Given the description of an element on the screen output the (x, y) to click on. 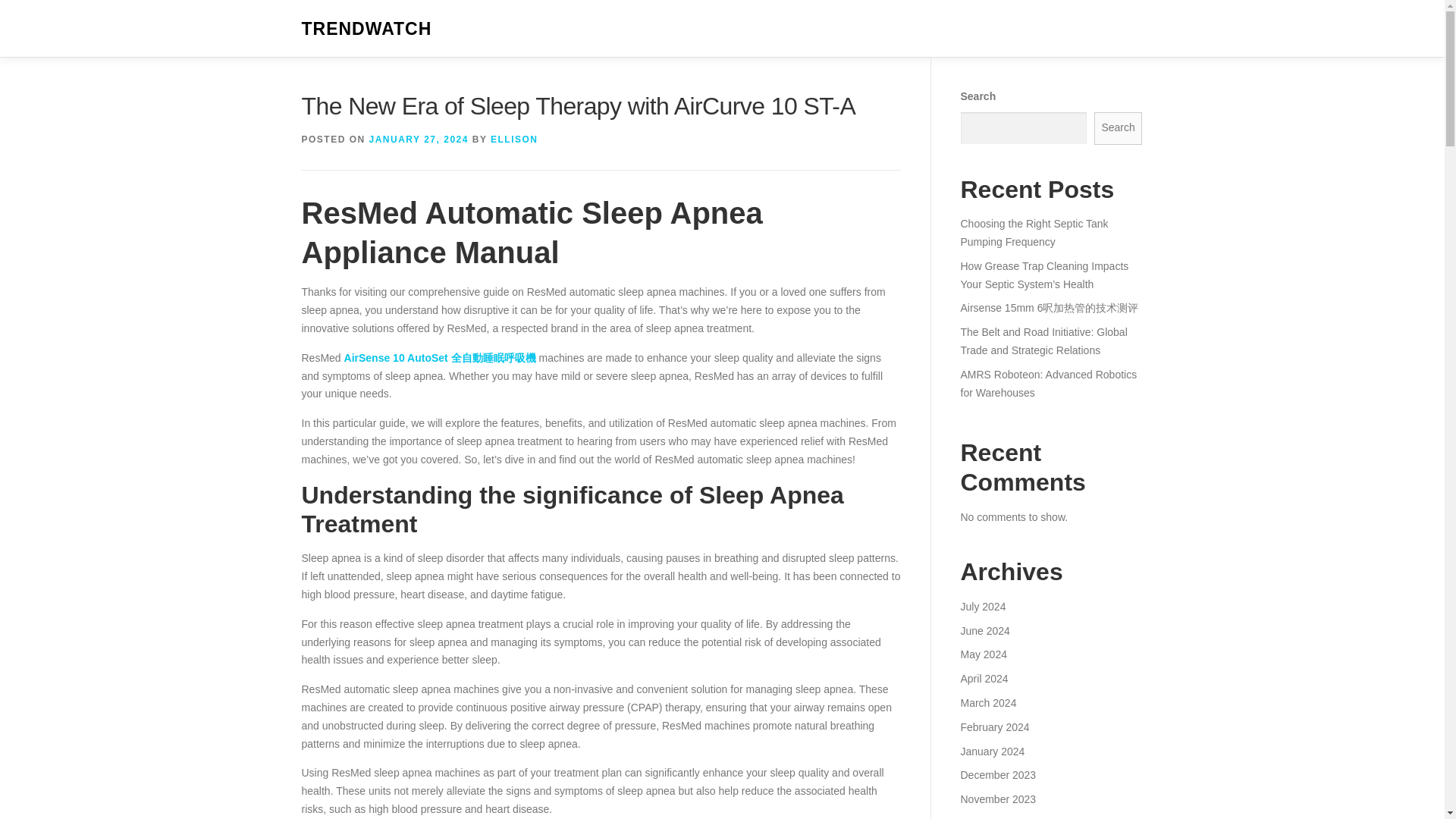
December 2023 (997, 775)
JANUARY 27, 2024 (418, 139)
October 2023 (992, 818)
November 2023 (997, 799)
February 2024 (994, 727)
AMRS Roboteon: Advanced Robotics for Warehouses (1048, 383)
January 2024 (992, 750)
ELLISON (514, 139)
TRENDWATCH (366, 29)
April 2024 (983, 678)
Choosing the Right Septic Tank Pumping Frequency (1033, 232)
June 2024 (984, 630)
March 2024 (987, 702)
May 2024 (982, 654)
July 2024 (982, 606)
